Given the description of an element on the screen output the (x, y) to click on. 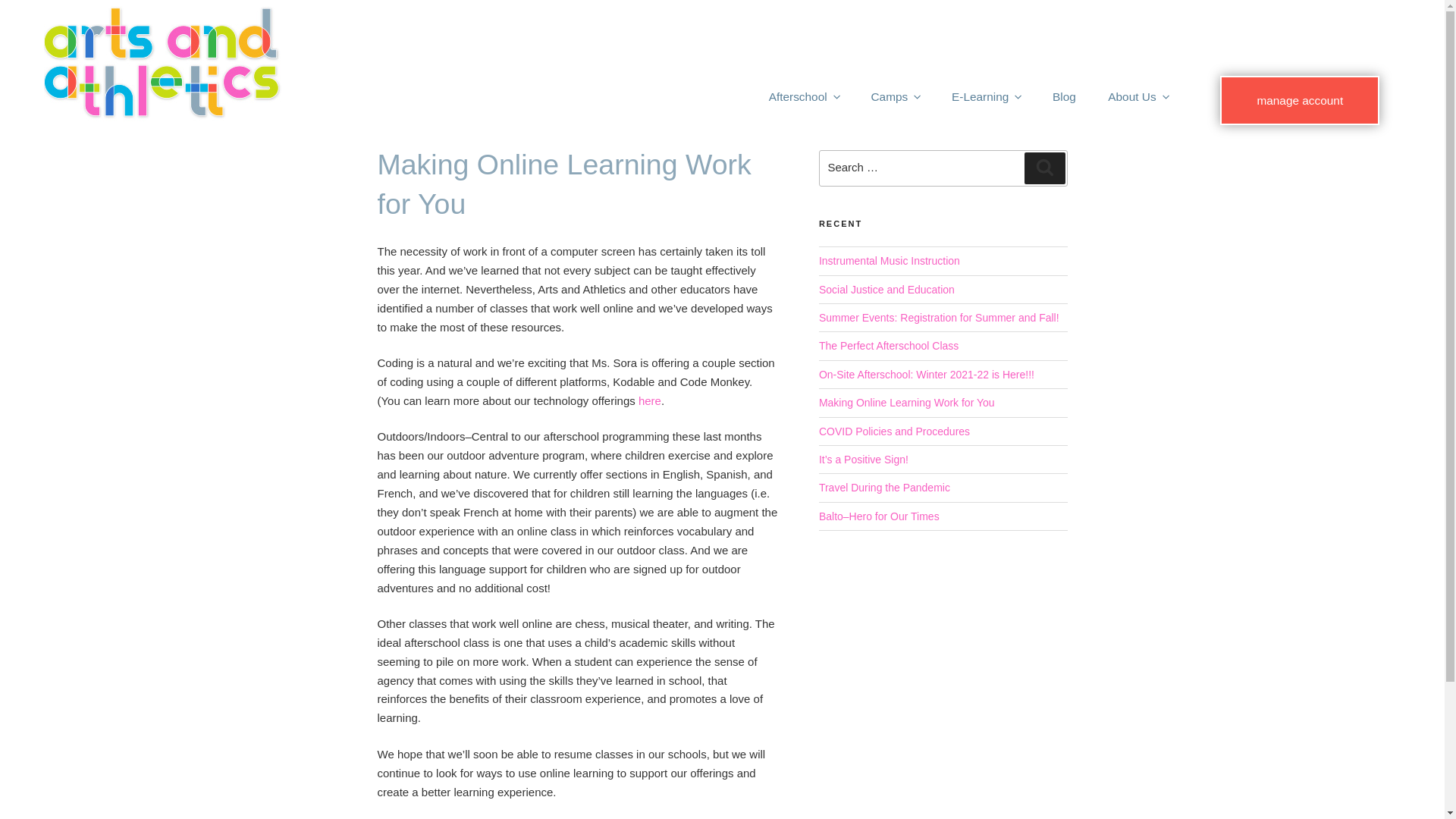
Camps (895, 96)
Blog (1064, 96)
manage account (1299, 101)
E-Learning (986, 96)
Afterschool (803, 96)
About Us (1137, 96)
